Given the description of an element on the screen output the (x, y) to click on. 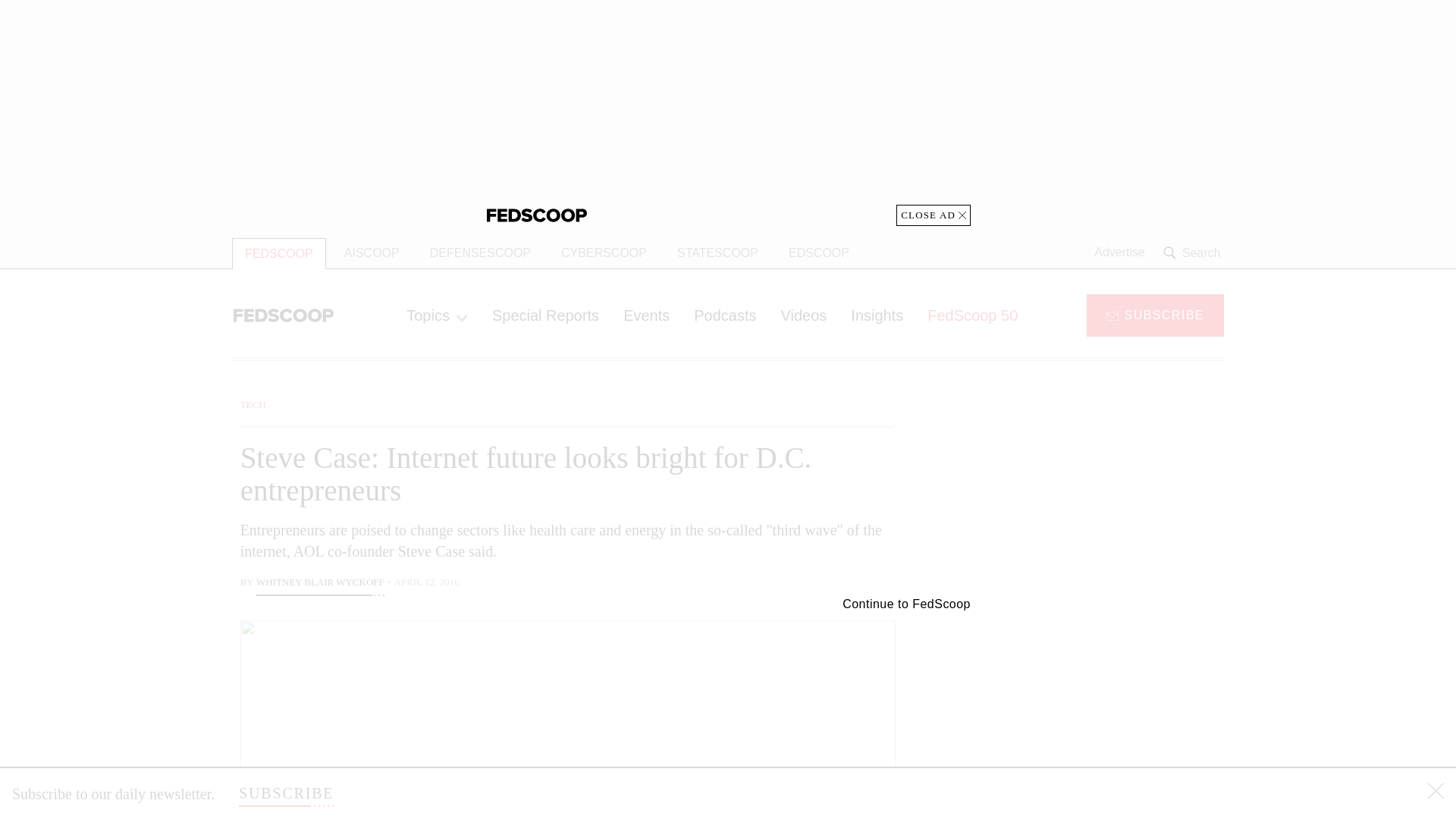
Advertise (1119, 252)
STATESCOOP (717, 253)
CYBERSCOOP (603, 253)
Insights (876, 315)
SUBSCRIBE (1155, 314)
3rd party ad content (1101, 705)
Search (1193, 252)
Special Reports (545, 315)
TECH (253, 404)
